Given the description of an element on the screen output the (x, y) to click on. 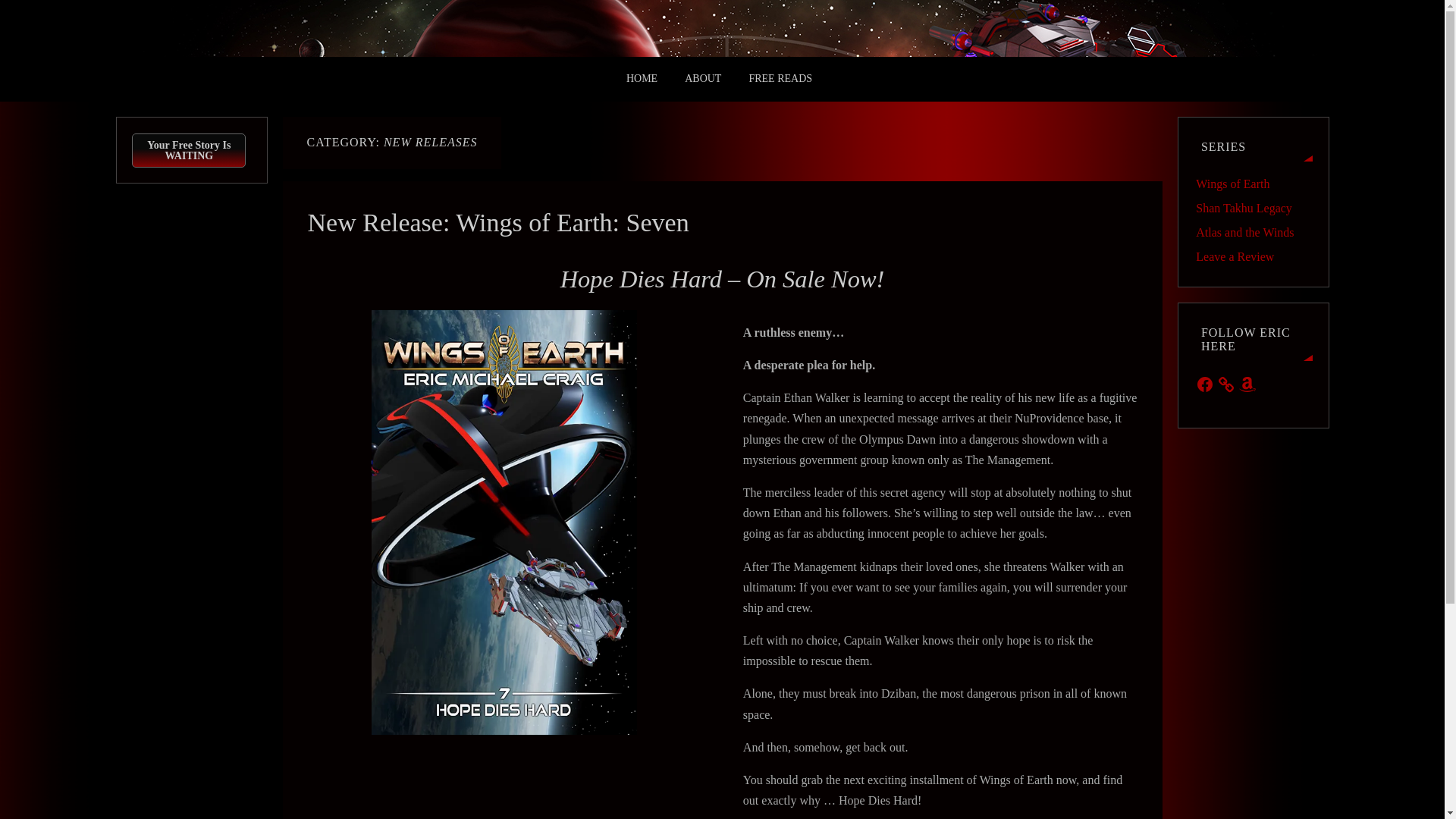
HOME (641, 78)
Atlas and the Winds (1244, 232)
Permalink to New Release: Wings of Earth: Seven (497, 222)
Your Free Story Is WAITING (189, 150)
ABOUT (703, 78)
Wings of Earth (1232, 183)
Leave a Review (1234, 256)
New Release: Wings of Earth: Seven (497, 222)
Shan Takhu Legacy (1243, 207)
